Given the description of an element on the screen output the (x, y) to click on. 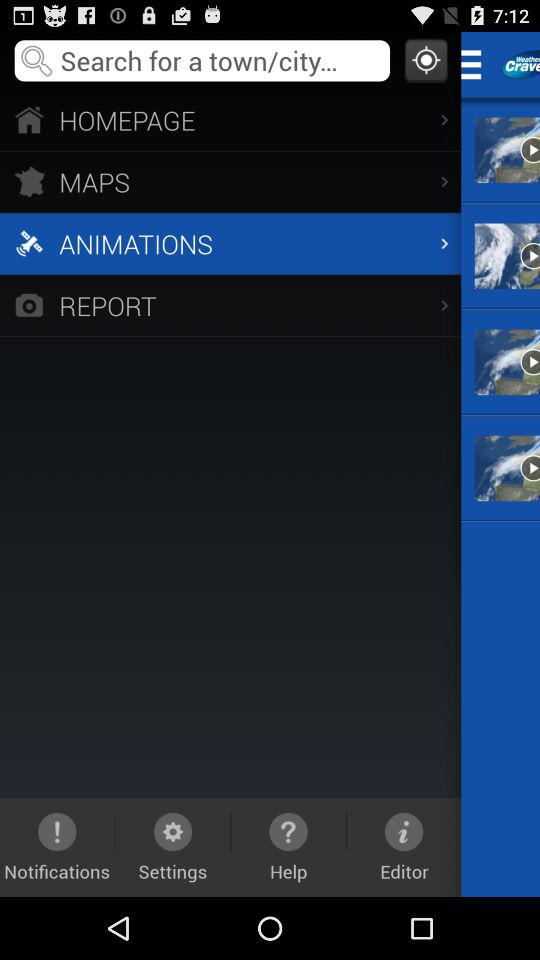
choose icon at the bottom right corner (404, 847)
